Given the description of an element on the screen output the (x, y) to click on. 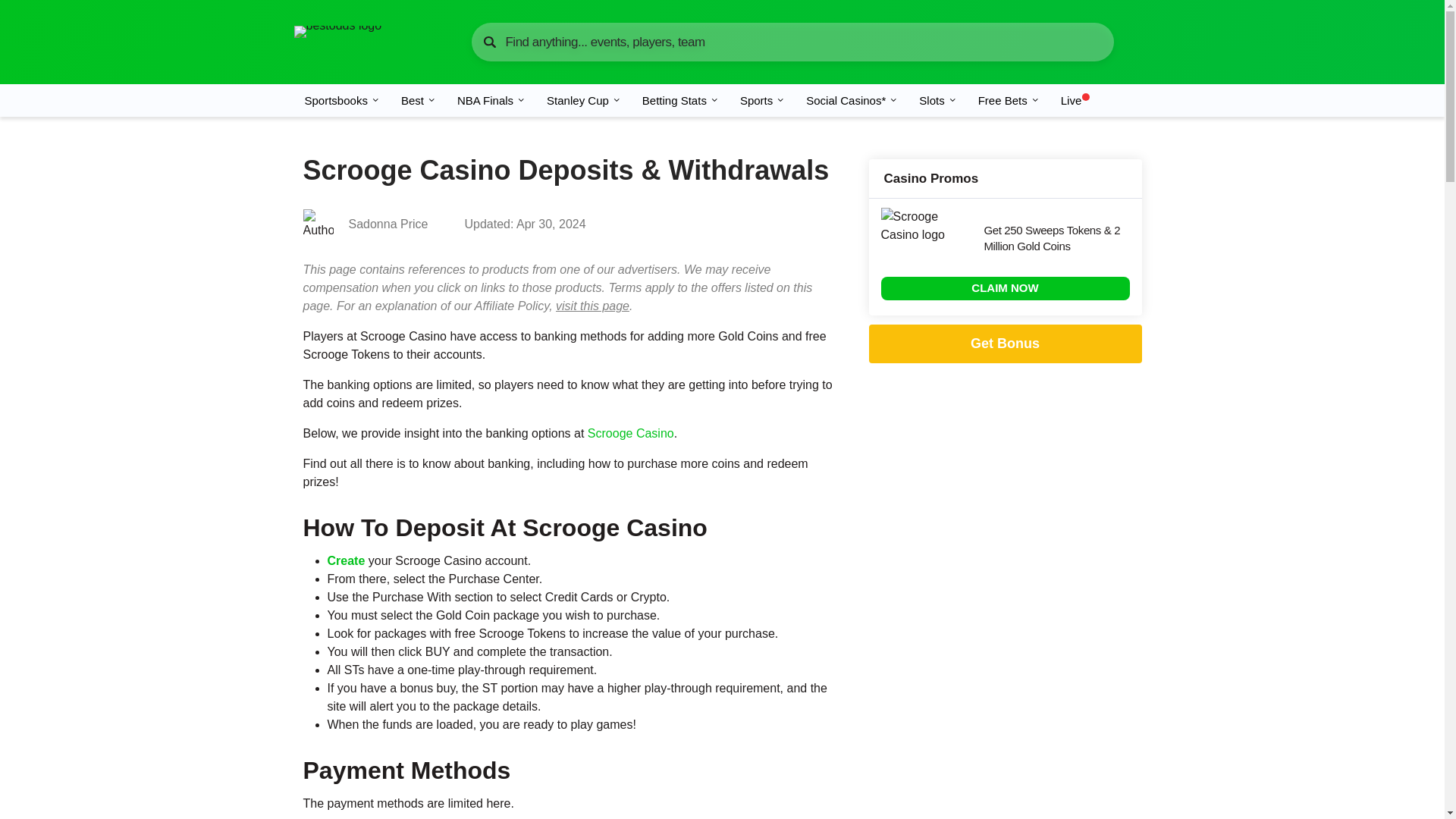
Sports (761, 99)
NBA Finals (490, 99)
Slots (937, 99)
Stanley Cup (583, 99)
Betting Stats (680, 99)
Sportsbooks (342, 99)
Best (418, 99)
